Given the description of an element on the screen output the (x, y) to click on. 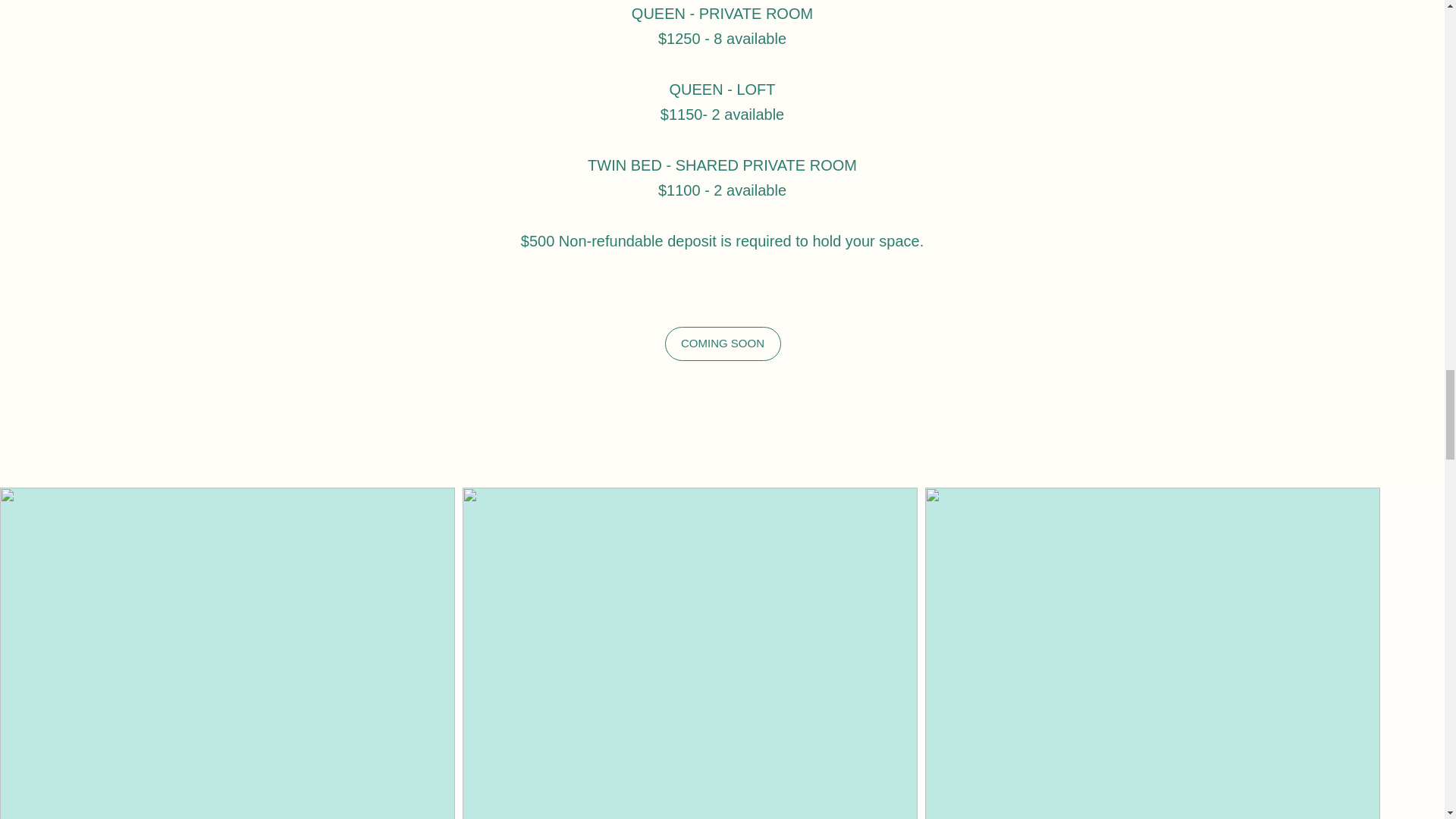
COMING SOON (721, 343)
